Given the description of an element on the screen output the (x, y) to click on. 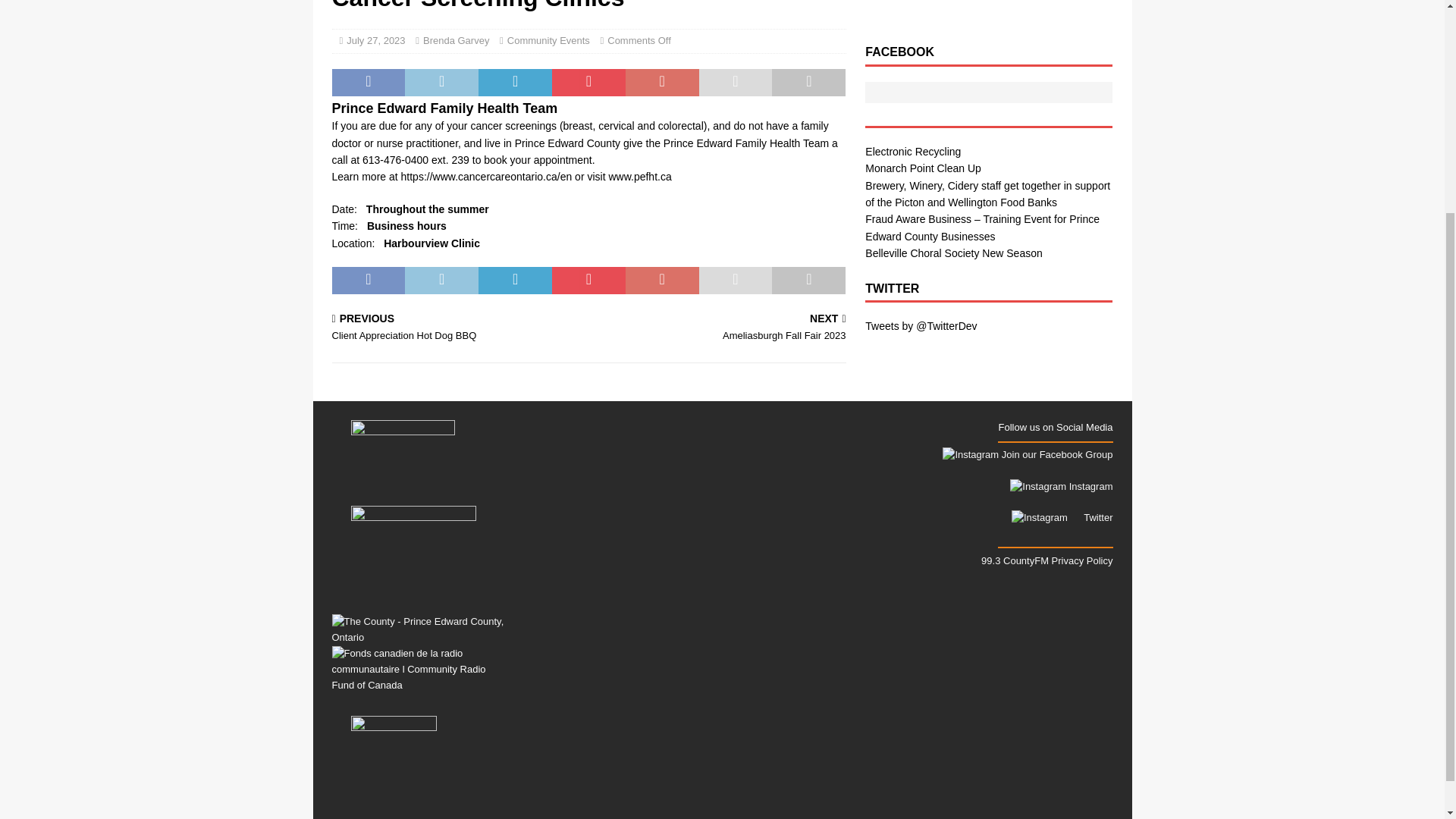
Brenda Garvey (456, 40)
Community Events (547, 40)
July 27, 2023 (375, 40)
